Given the description of an element on the screen output the (x, y) to click on. 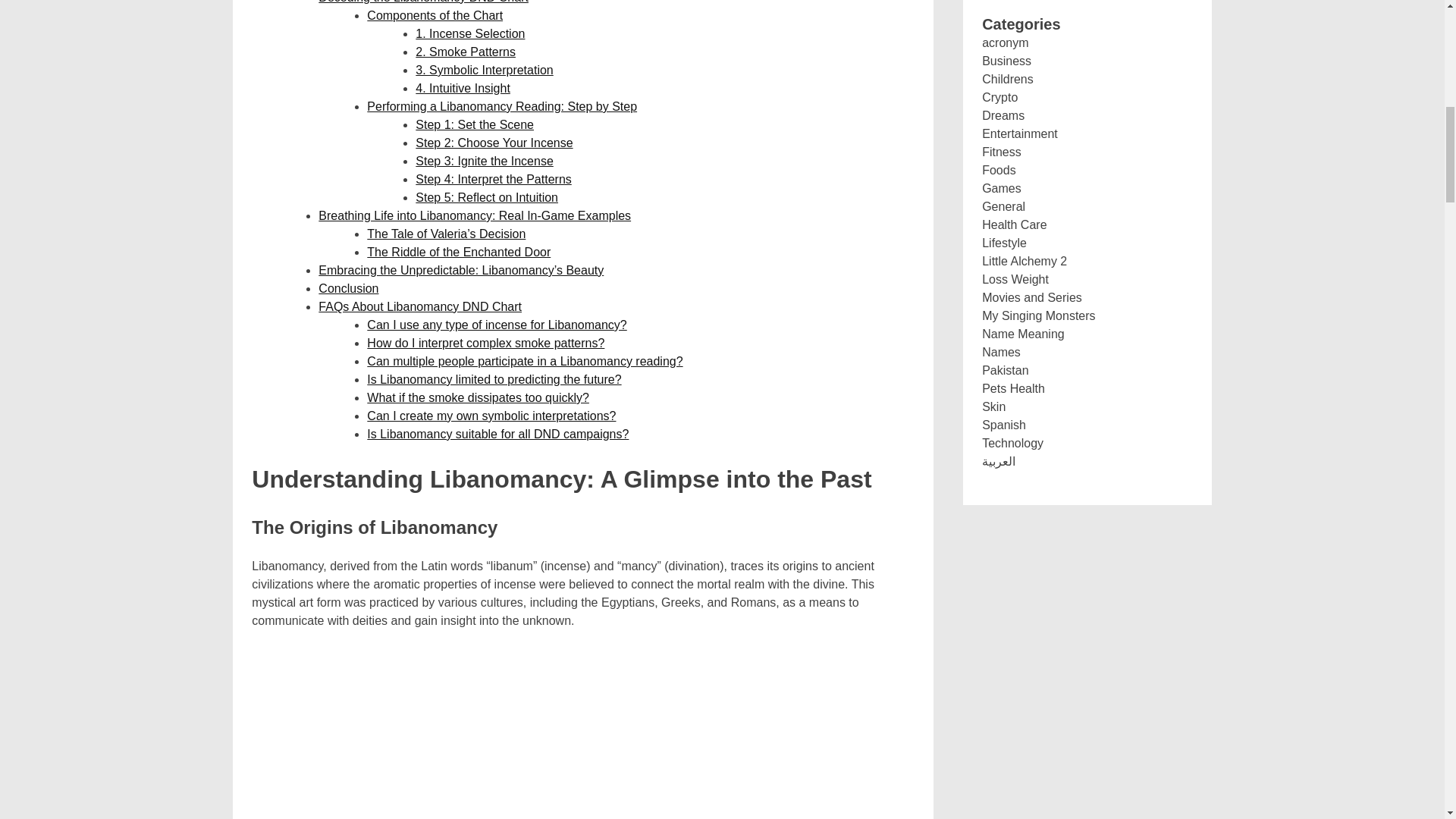
Libanomancy DND Chart: Unlock The Amazing Secrets in 2023 (582, 733)
